Given the description of an element on the screen output the (x, y) to click on. 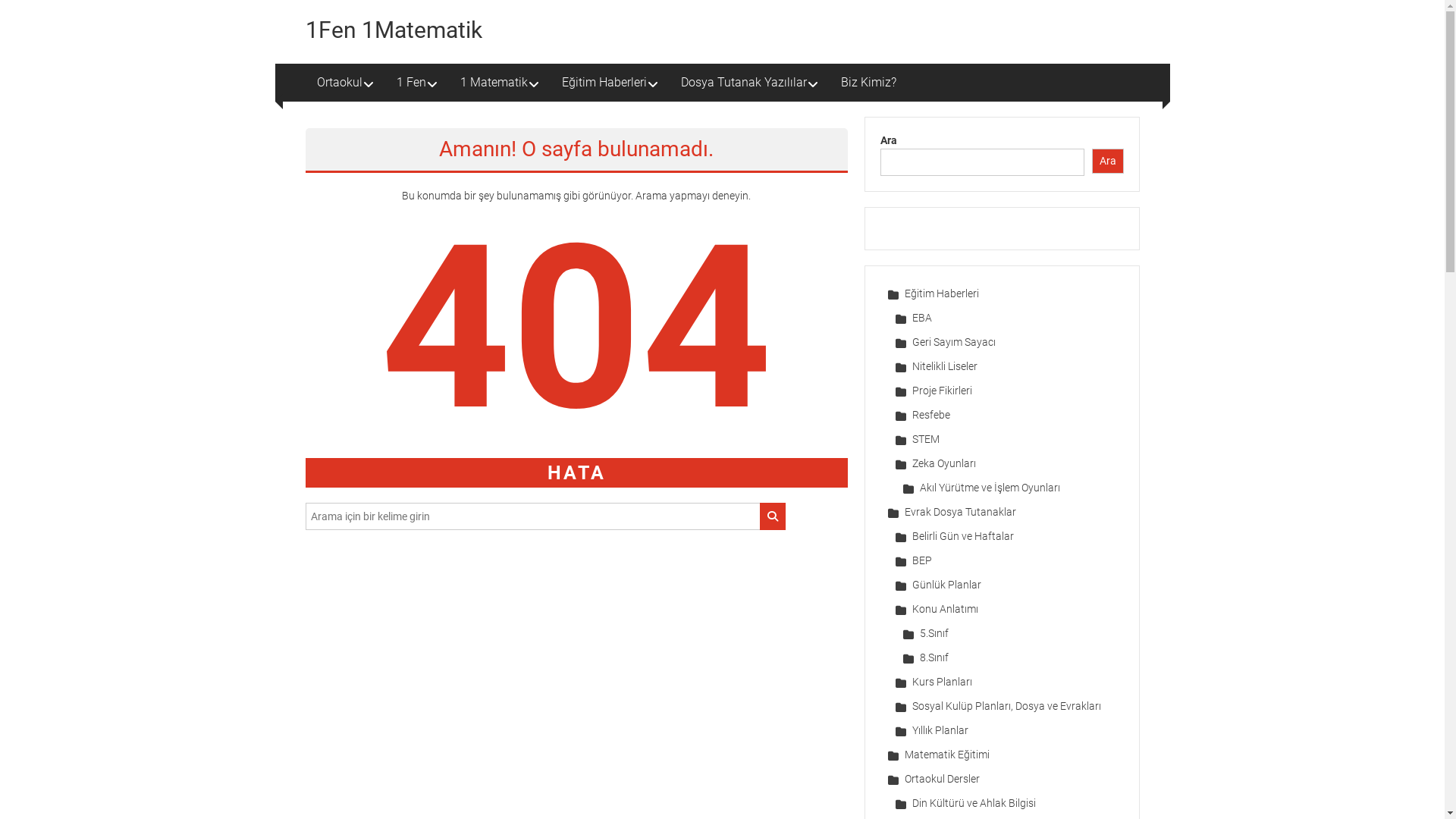
Ara Element type: text (1107, 160)
EBA Element type: text (912, 317)
Biz Kimiz? Element type: text (867, 82)
STEM Element type: text (916, 439)
Evrak Dosya Tutanaklar Element type: text (951, 511)
1 Fen Element type: text (410, 82)
1Fen 1Matematik Element type: text (392, 29)
BEP Element type: text (912, 560)
Ortaokul Element type: text (339, 82)
Proje Fikirleri Element type: text (932, 390)
Resfebe Element type: text (921, 414)
1 Matematik Element type: text (493, 82)
Nitelikli Liseler Element type: text (935, 366)
Ortaokul Dersler Element type: text (933, 778)
